Given the description of an element on the screen output the (x, y) to click on. 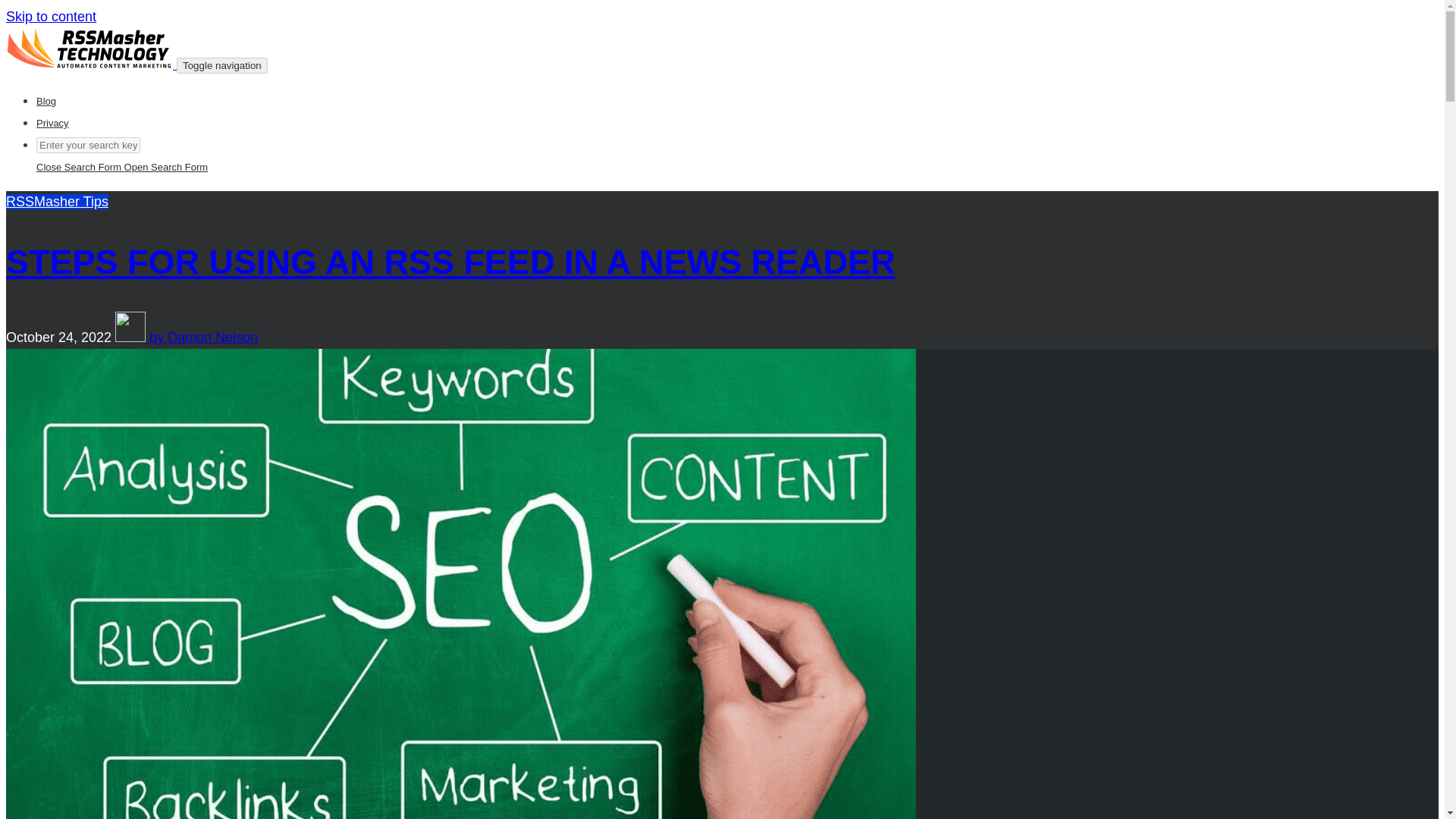
Blog (46, 101)
Skip to content (50, 16)
by Damon Nelson (186, 337)
RSSMasher Technology (89, 47)
Close Search Form (79, 166)
Privacy (52, 122)
STEPS FOR USING AN RSS FEED IN A NEWS READER (450, 261)
RSSMasher Tips (56, 201)
Open Search Form (165, 166)
Toggle navigation (221, 65)
